Given the description of an element on the screen output the (x, y) to click on. 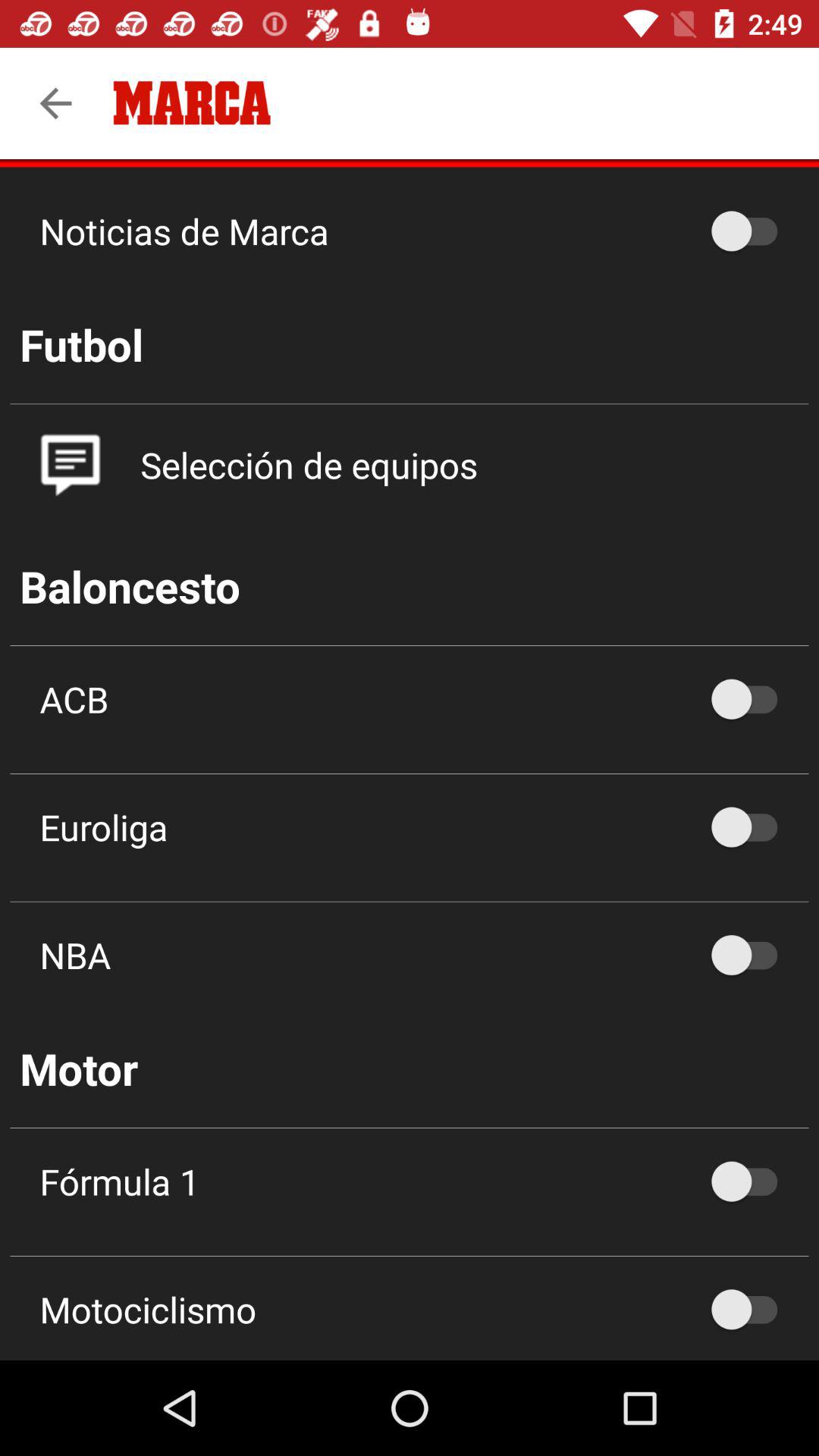
toggle acb option (751, 699)
